Given the description of an element on the screen output the (x, y) to click on. 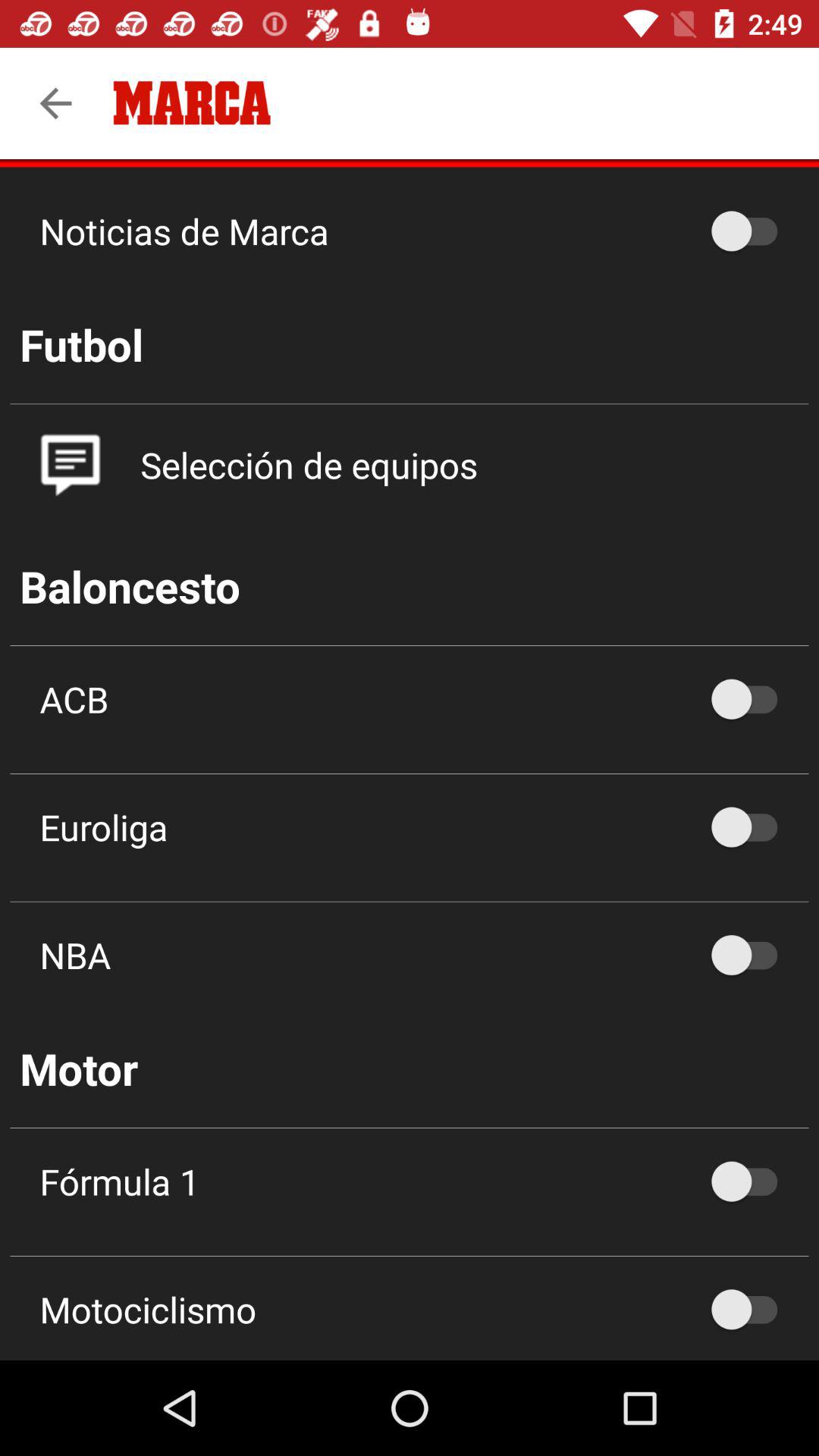
toggle acb option (751, 699)
